Given the description of an element on the screen output the (x, y) to click on. 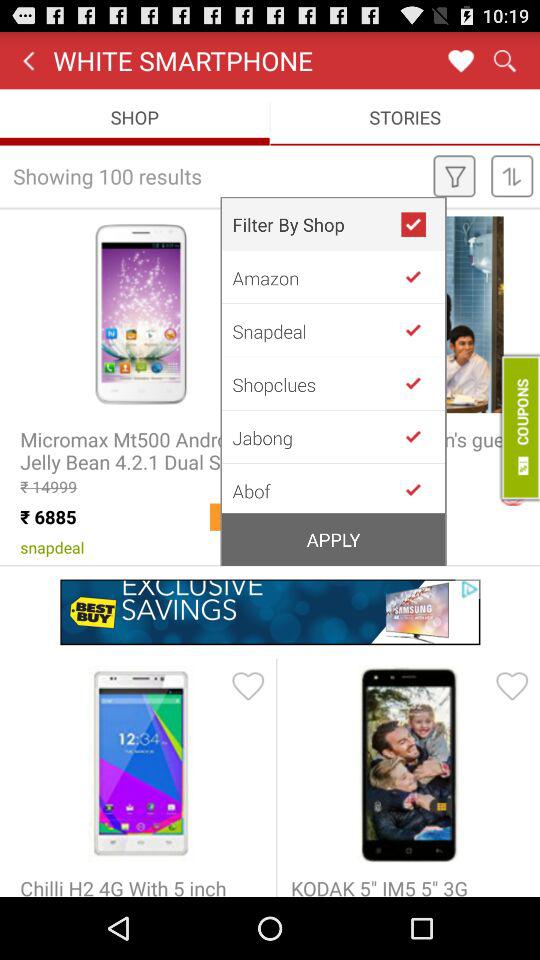
select the app next to filter by shop icon (422, 224)
